Given the description of an element on the screen output the (x, y) to click on. 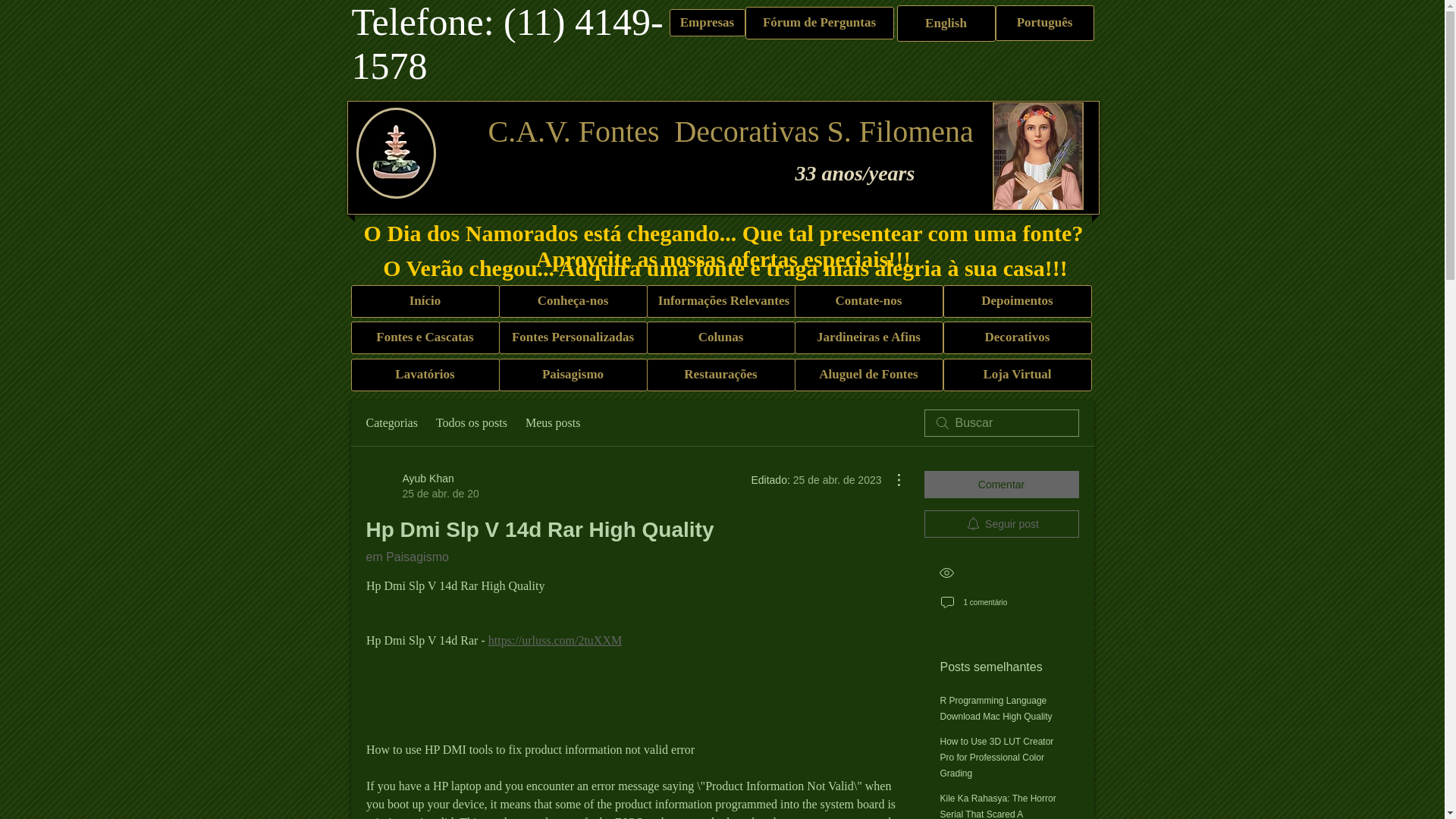
Colunas (720, 337)
Seguir post (421, 485)
Fontes Personalizadas (1000, 523)
Empresas (573, 337)
Meus posts (706, 22)
English (552, 423)
Jardineiras e Afins (945, 22)
R Programming Language Download Mac High Quality (868, 337)
Paisagismo (996, 708)
Loja Virtual (573, 374)
Decorativos (1017, 374)
Contate-nos (1017, 337)
How to Use 3D LUT Creator Pro for Professional Color Grading (868, 301)
Fontes e Cascatas (997, 757)
